Given the description of an element on the screen output the (x, y) to click on. 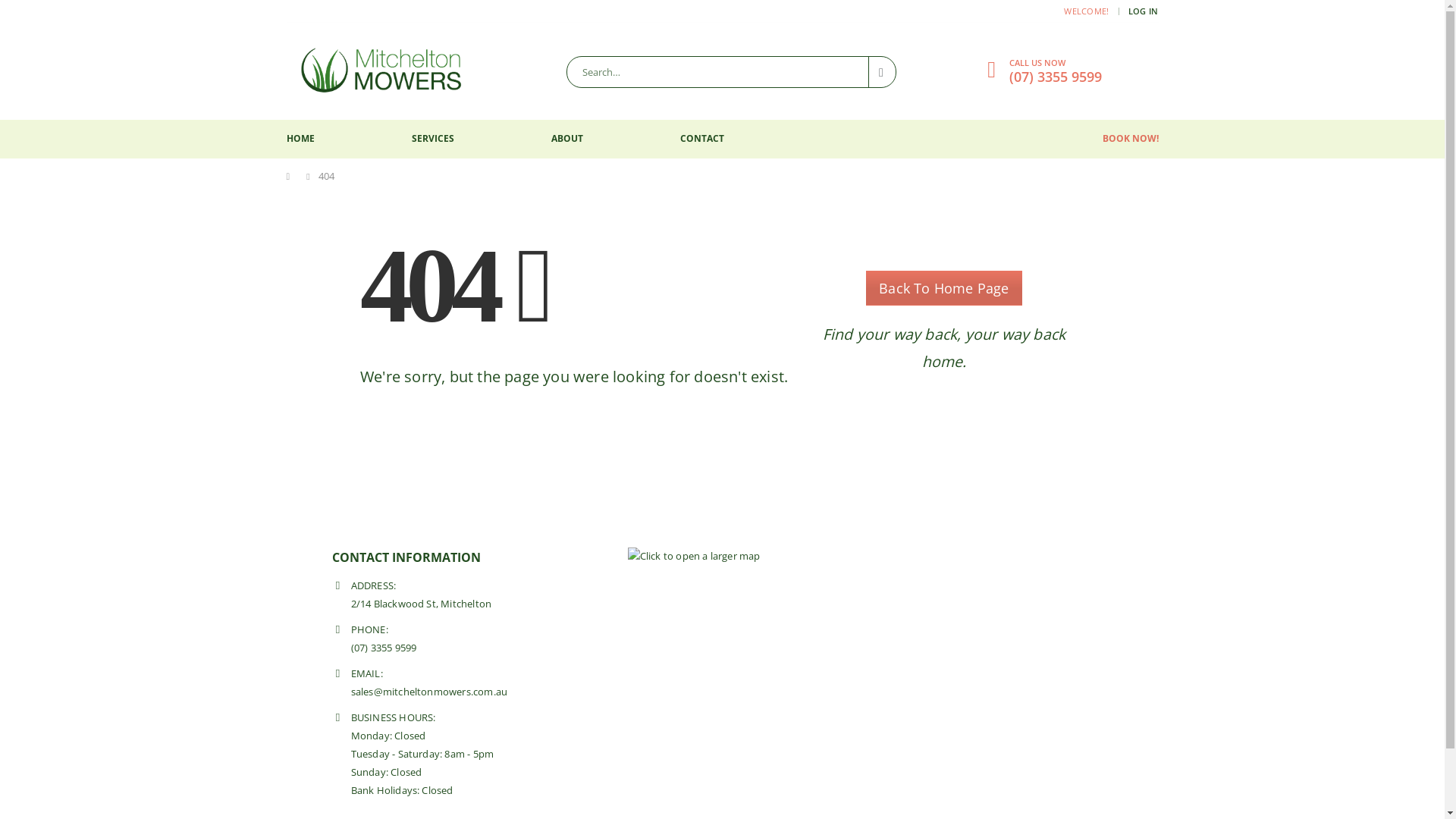
BOOK NOW! Element type: text (1130, 138)
HOME Element type: text (300, 138)
Search Element type: hover (882, 71)
LOG IN Element type: text (1143, 10)
Go to Home Page Element type: hover (291, 176)
Mitchelton Mowers - Your Local Mower Store Element type: hover (381, 71)
ABOUT Element type: text (566, 138)
CONTACT Element type: text (701, 138)
Click to open a larger map Element type: hover (693, 555)
Back To Home Page Element type: text (943, 287)
Click to open a larger map Element type: hover (693, 556)
SERVICES Element type: text (432, 138)
CALL US NOW
(07) 3355 9599 Element type: text (1054, 68)
sales@mitcheltonmowers.com.au Element type: text (428, 691)
